Given the description of an element on the screen output the (x, y) to click on. 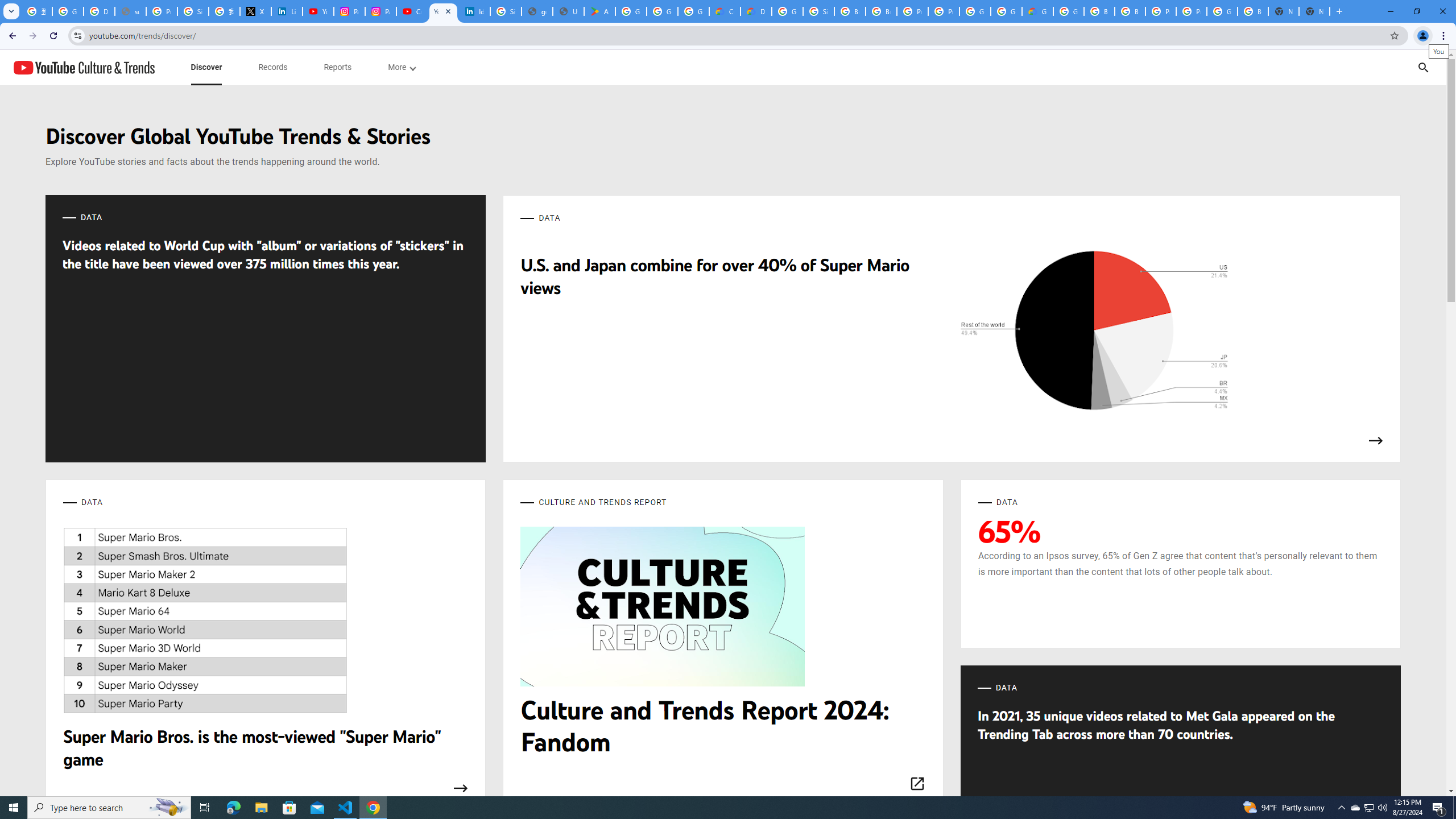
subnav-Records menupopup (272, 67)
subnav-Discover menupopup (206, 67)
Google Cloud Platform (787, 11)
Browse Chrome as a guest - Computer - Google Chrome Help (1098, 11)
Android Apps on Google Play (599, 11)
